Given the description of an element on the screen output the (x, y) to click on. 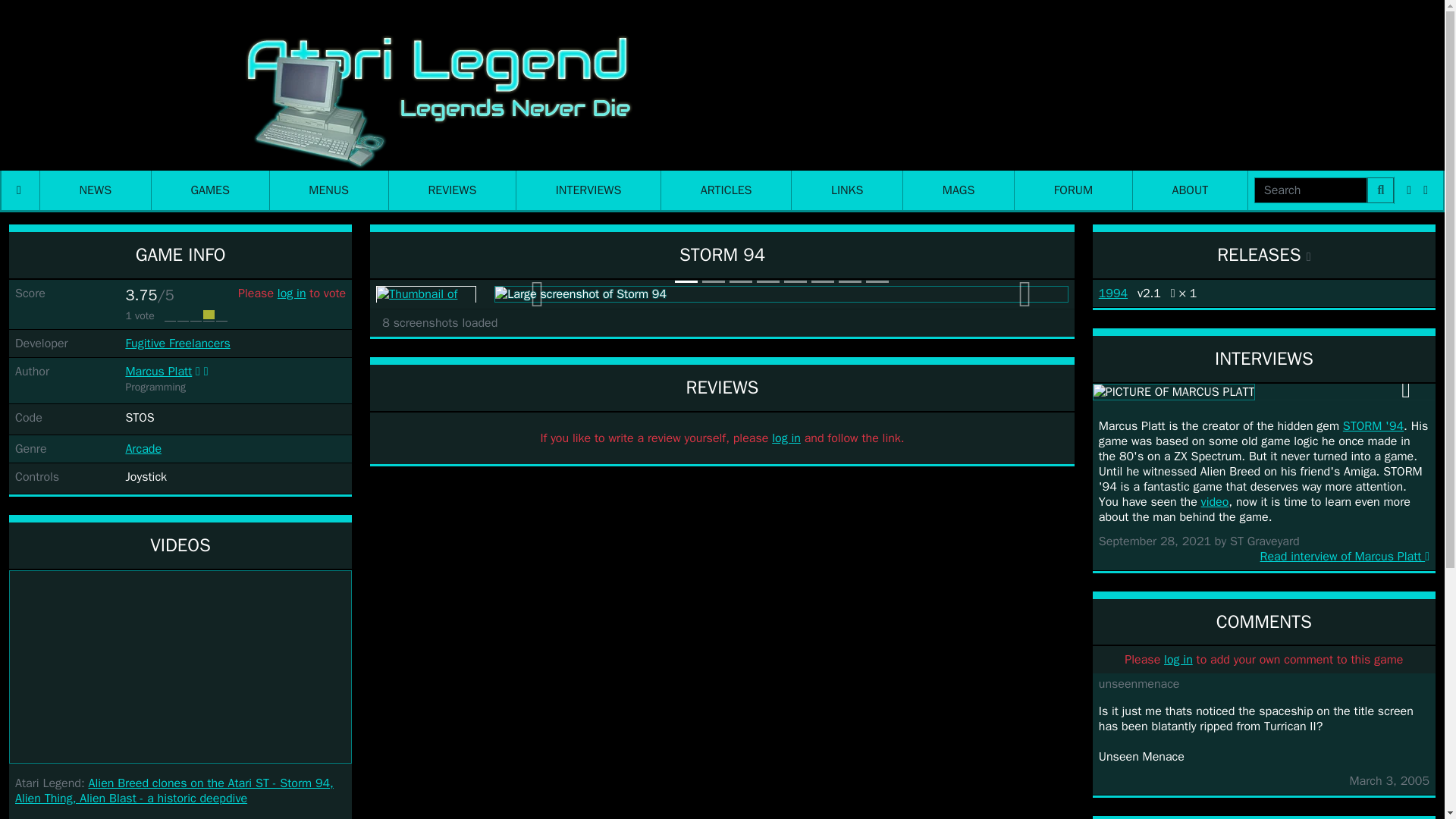
ABOUT (1189, 189)
STORM '94 (1372, 426)
1994 (1112, 293)
FORUM (1073, 189)
MENUS (328, 189)
Arcade (143, 448)
log in (1177, 659)
Read interview of Marcus Platt (1264, 556)
Fugitive Freelancers (177, 343)
REVIEWS (451, 189)
